Given the description of an element on the screen output the (x, y) to click on. 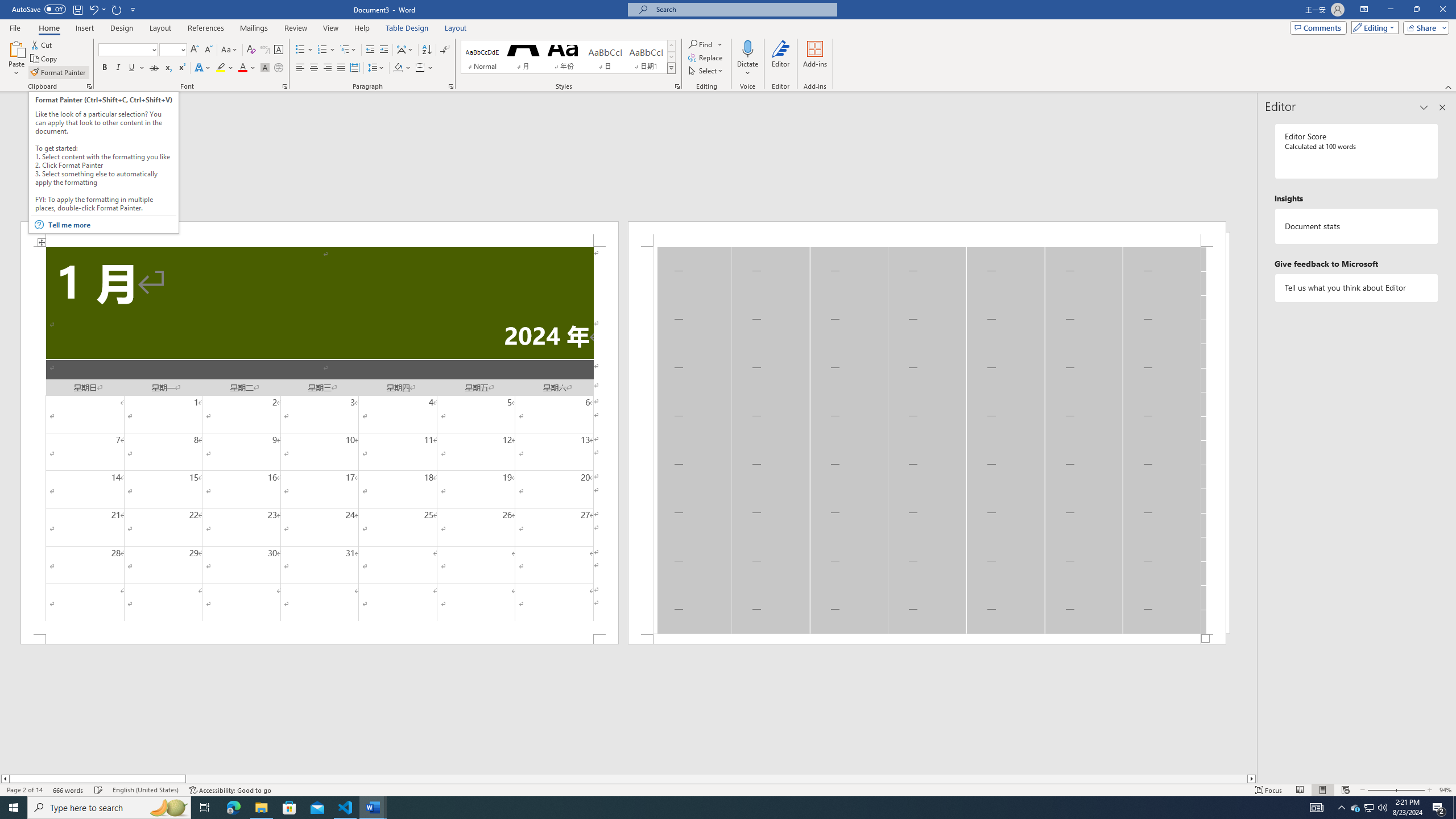
Center (313, 67)
Align Right (327, 67)
Table Design (407, 28)
Superscript (180, 67)
Undo Apply Quick Style (92, 9)
Mode (1372, 27)
